Given the description of an element on the screen output the (x, y) to click on. 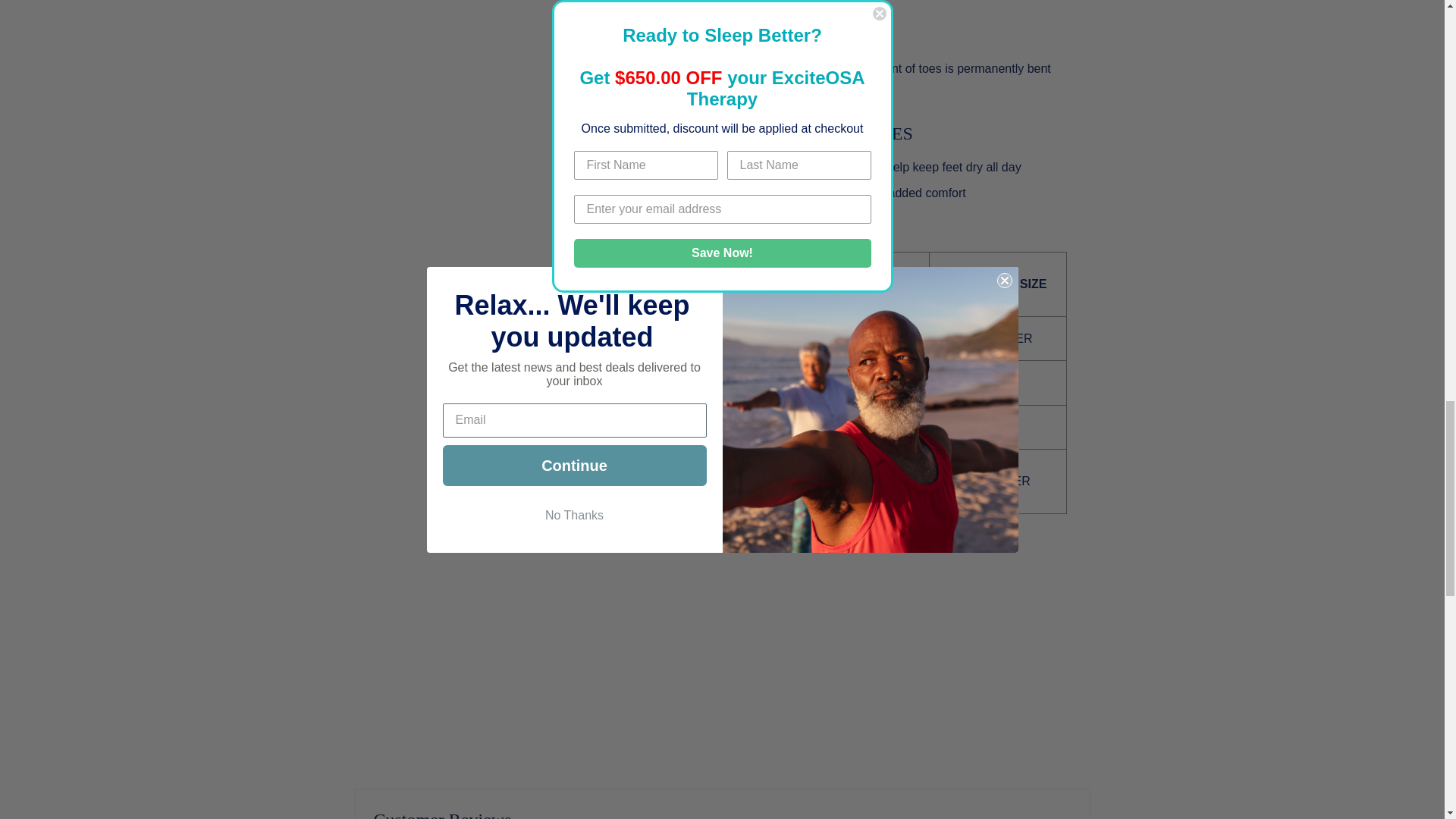
YouTube video player (911, 657)
